Given the description of an element on the screen output the (x, y) to click on. 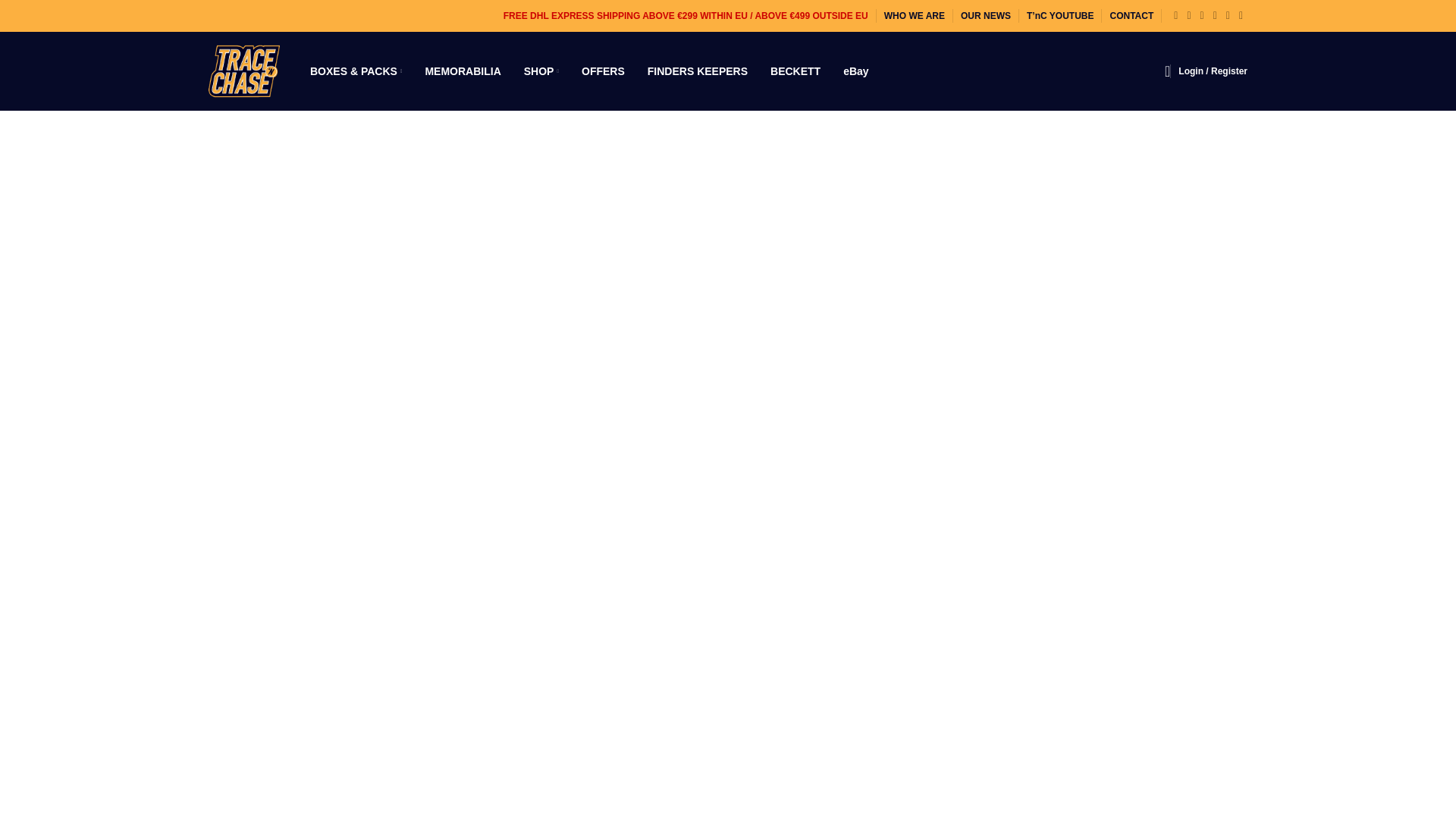
FINDERS KEEPERS (697, 71)
My account (1212, 71)
SHOP (541, 71)
CONTACT (1131, 15)
WHO WE ARE (913, 15)
MEMORABILIA (462, 71)
OFFERS (602, 71)
BECKETT (795, 71)
OUR NEWS (985, 15)
